Given the description of an element on the screen output the (x, y) to click on. 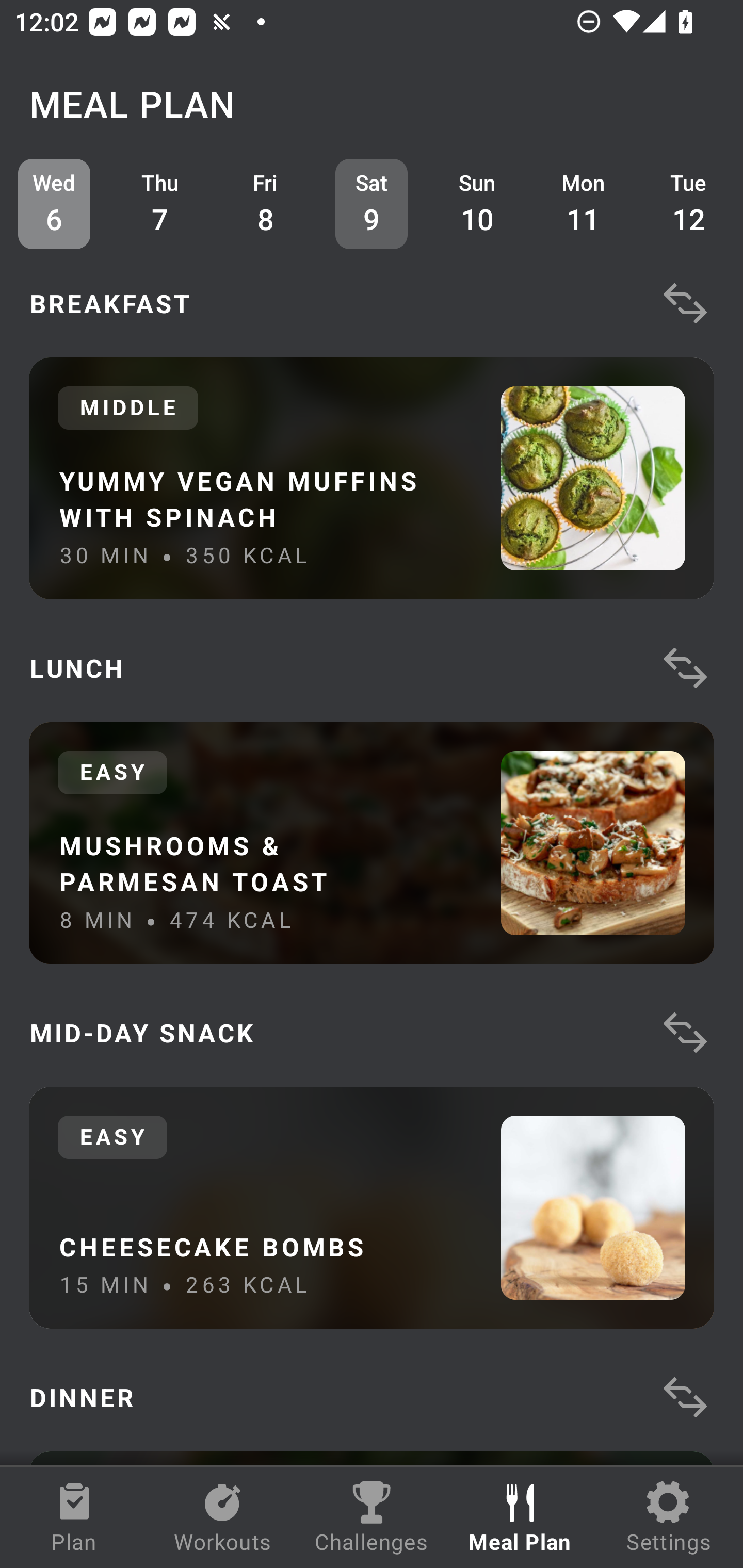
Wed 6 (53, 203)
Thu 7 (159, 203)
Fri 8 (265, 203)
Sat 9 (371, 203)
Sun 10 (477, 203)
Mon 11 (583, 203)
Tue 12 (689, 203)
EASY MUSHROOMS & PARMESAN TOAST 8 MIN • 474 KCAL (371, 843)
EASY CHEESECAKE BOMBS 15 MIN • 263 KCAL (371, 1207)
 Plan  (74, 1517)
 Workouts  (222, 1517)
 Challenges  (371, 1517)
 Settings  (668, 1517)
